Given the description of an element on the screen output the (x, y) to click on. 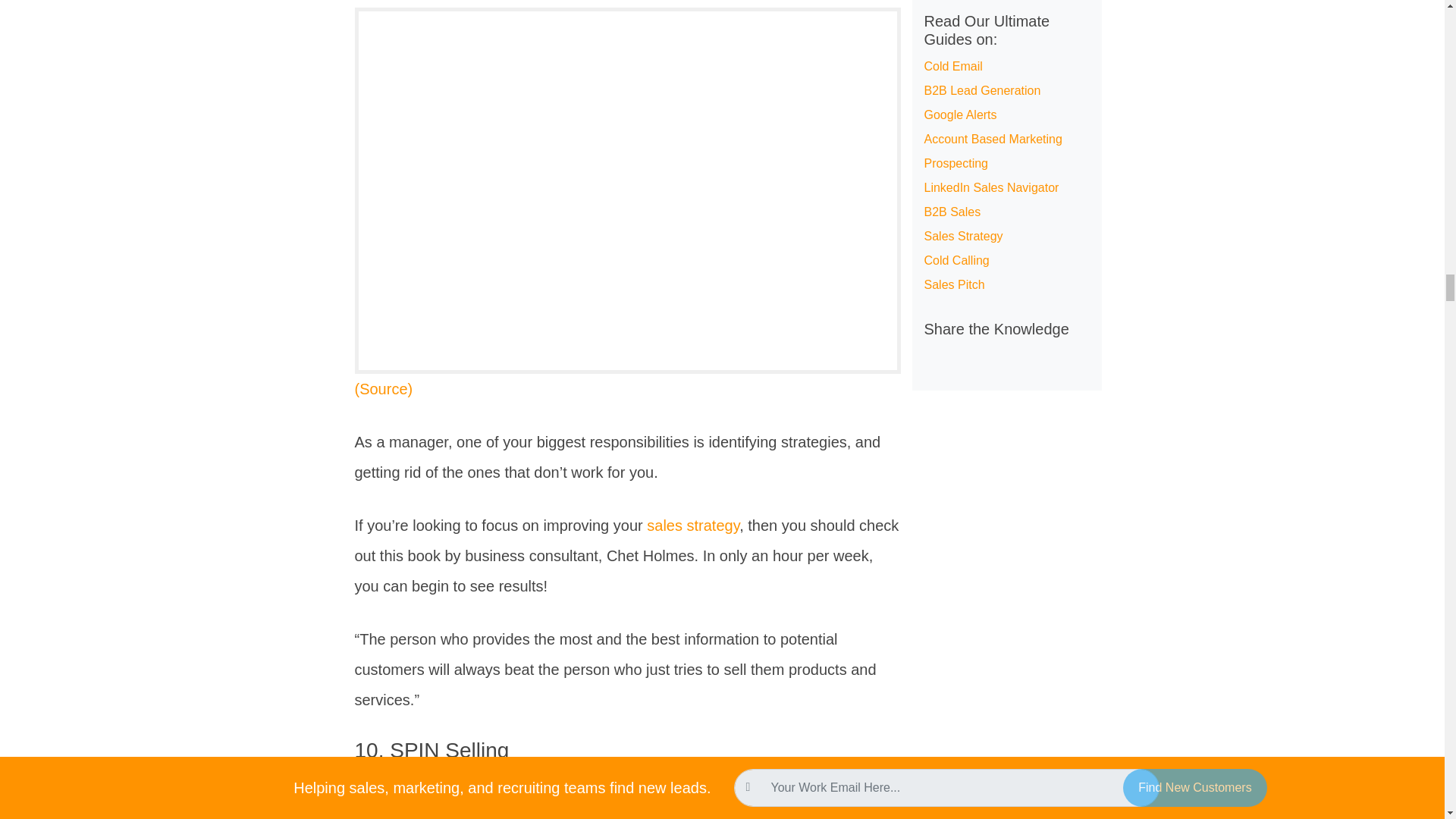
sales strategy (692, 524)
Sales Strategy (692, 524)
